Given the description of an element on the screen output the (x, y) to click on. 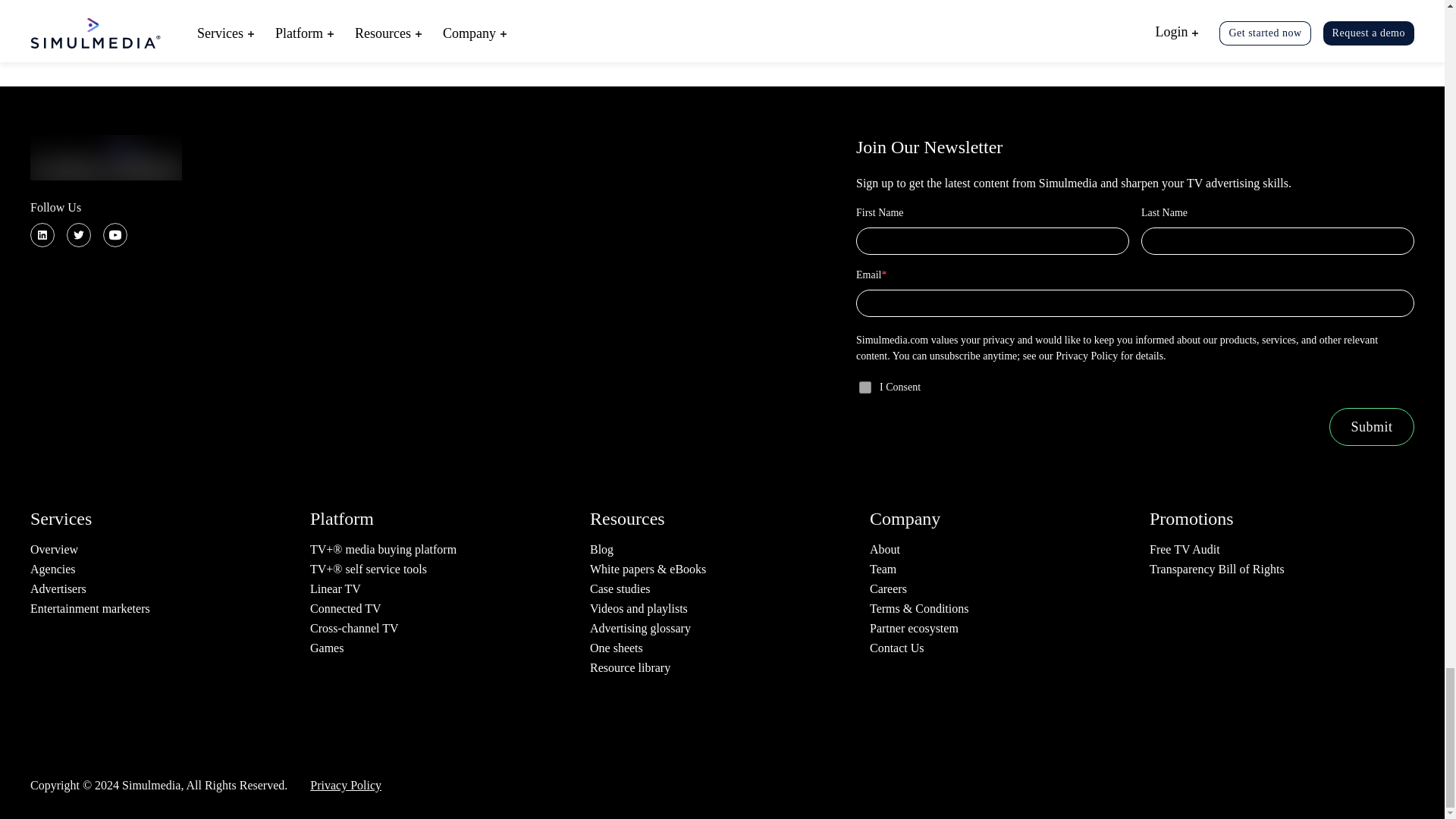
Submit (1371, 426)
true (864, 387)
